Given the description of an element on the screen output the (x, y) to click on. 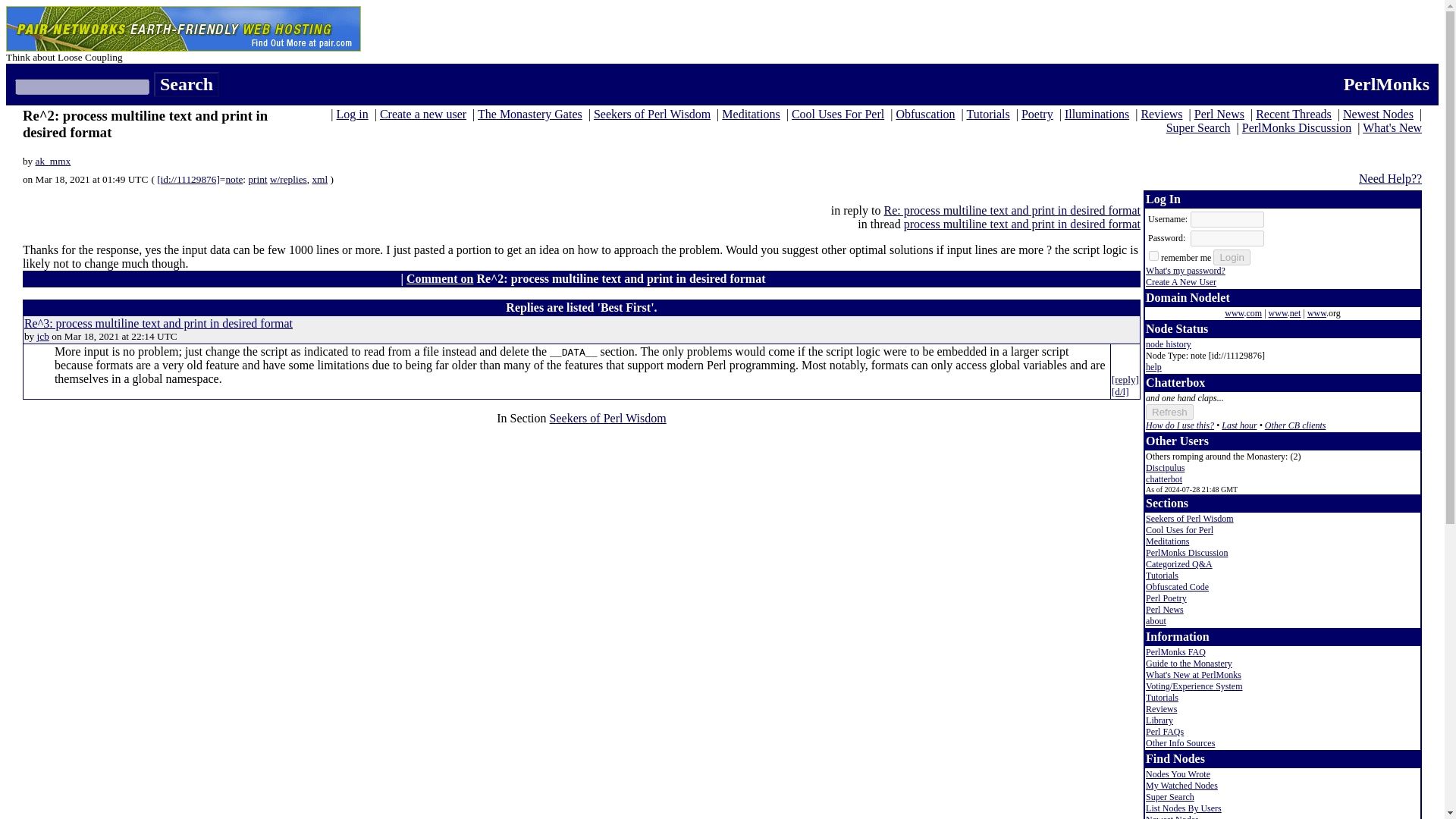
Cool Uses For Perl (837, 113)
What's my password? (1185, 270)
Search (186, 84)
note (234, 179)
PerlMonks (1386, 84)
Reviews (1161, 113)
chatterbot's home node. Level 1 (1163, 479)
Search (186, 84)
Create A New User (1180, 281)
Seekers of Perl Wisdom (652, 113)
Perl News (1218, 113)
Tutorials (987, 113)
Discipulus's home node. Level 20. Member of: janitors (1165, 467)
Super Search (1198, 127)
print (256, 179)
